Given the description of an element on the screen output the (x, y) to click on. 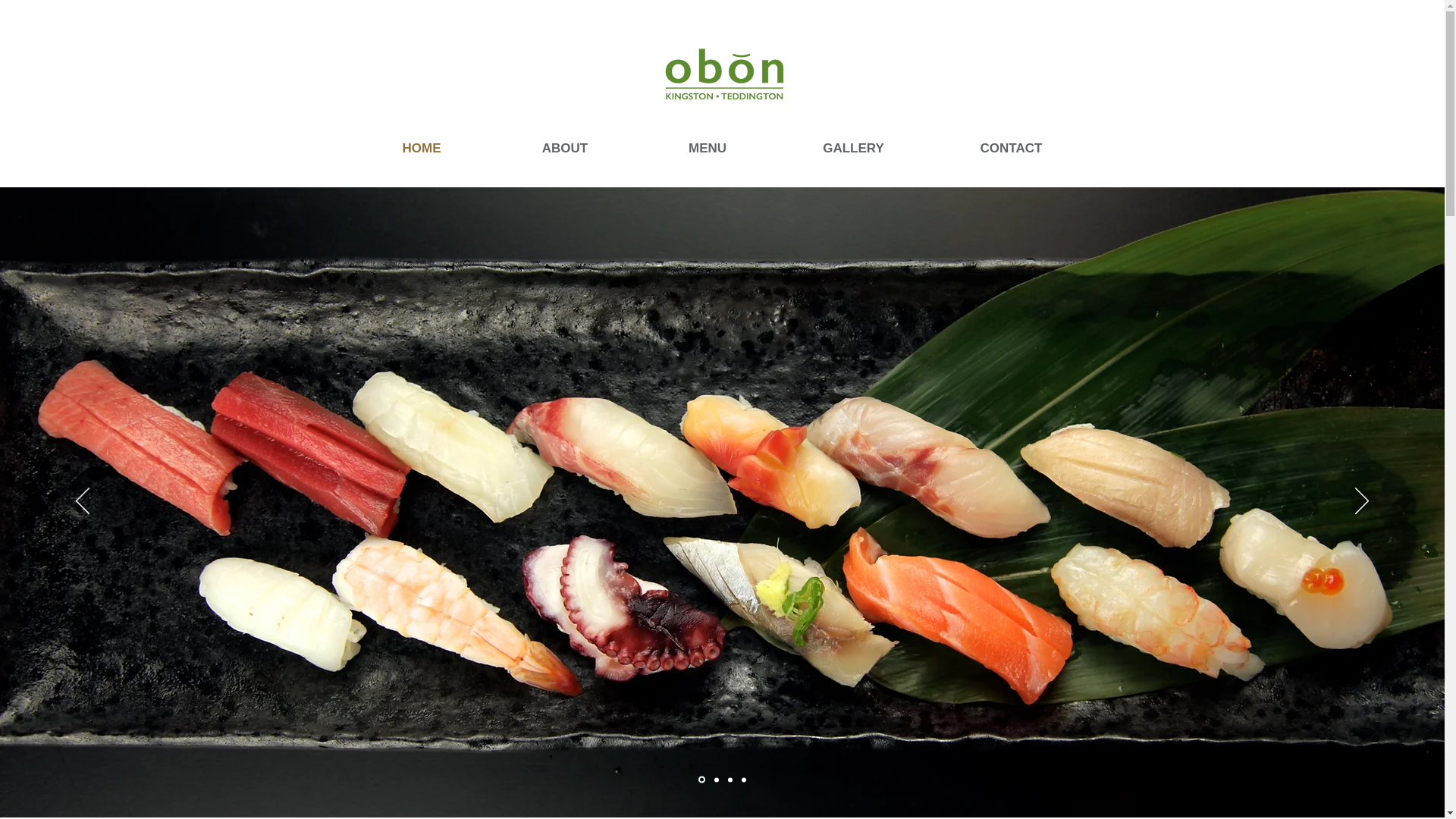
HOME (421, 148)
GALLERY (853, 148)
ABOUT (565, 148)
CONTACT (1011, 148)
MENU (707, 148)
